Given the description of an element on the screen output the (x, y) to click on. 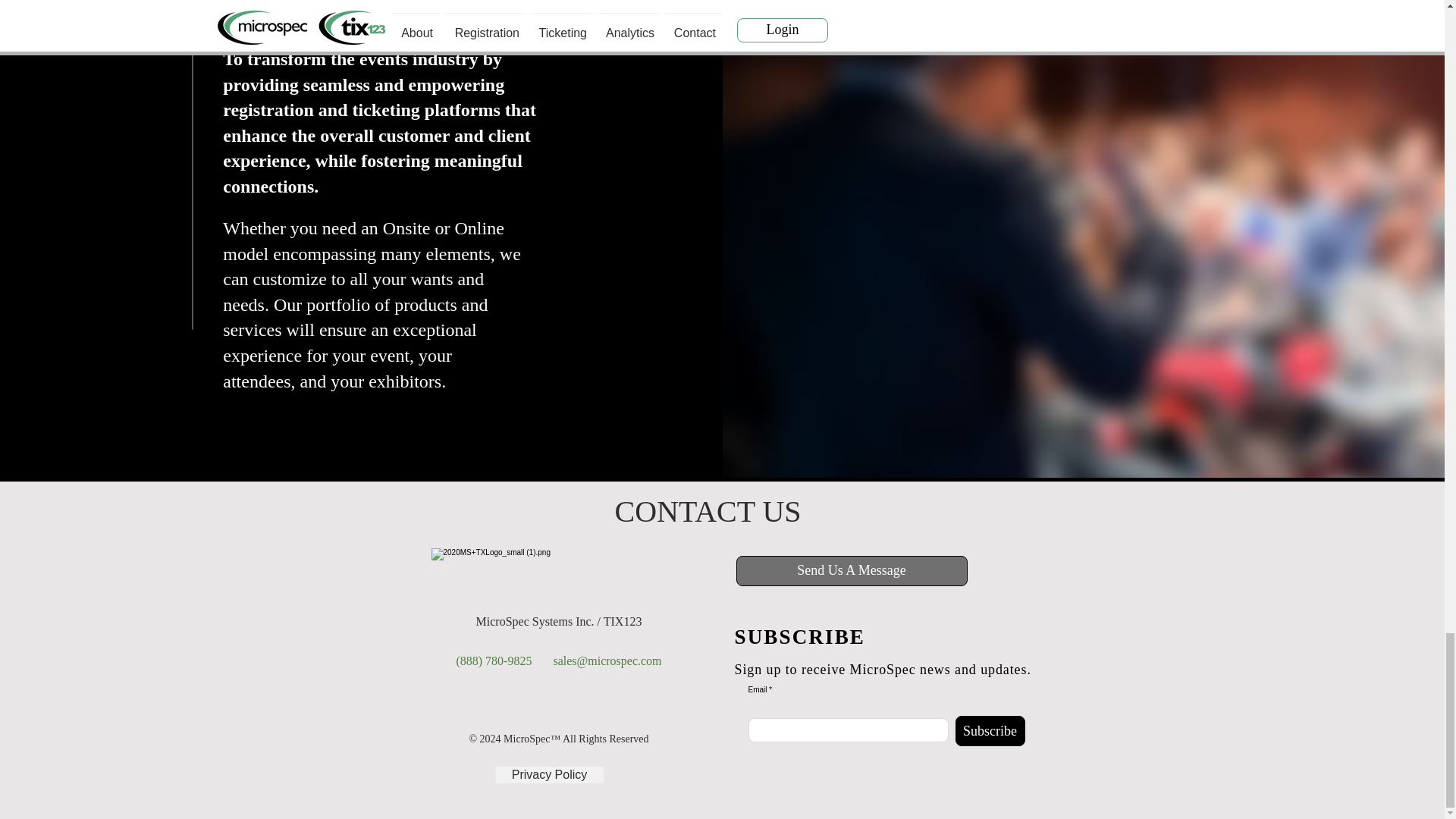
Privacy Policy (550, 774)
Subscribe (990, 730)
Send Us A Message (850, 571)
